Given the description of an element on the screen output the (x, y) to click on. 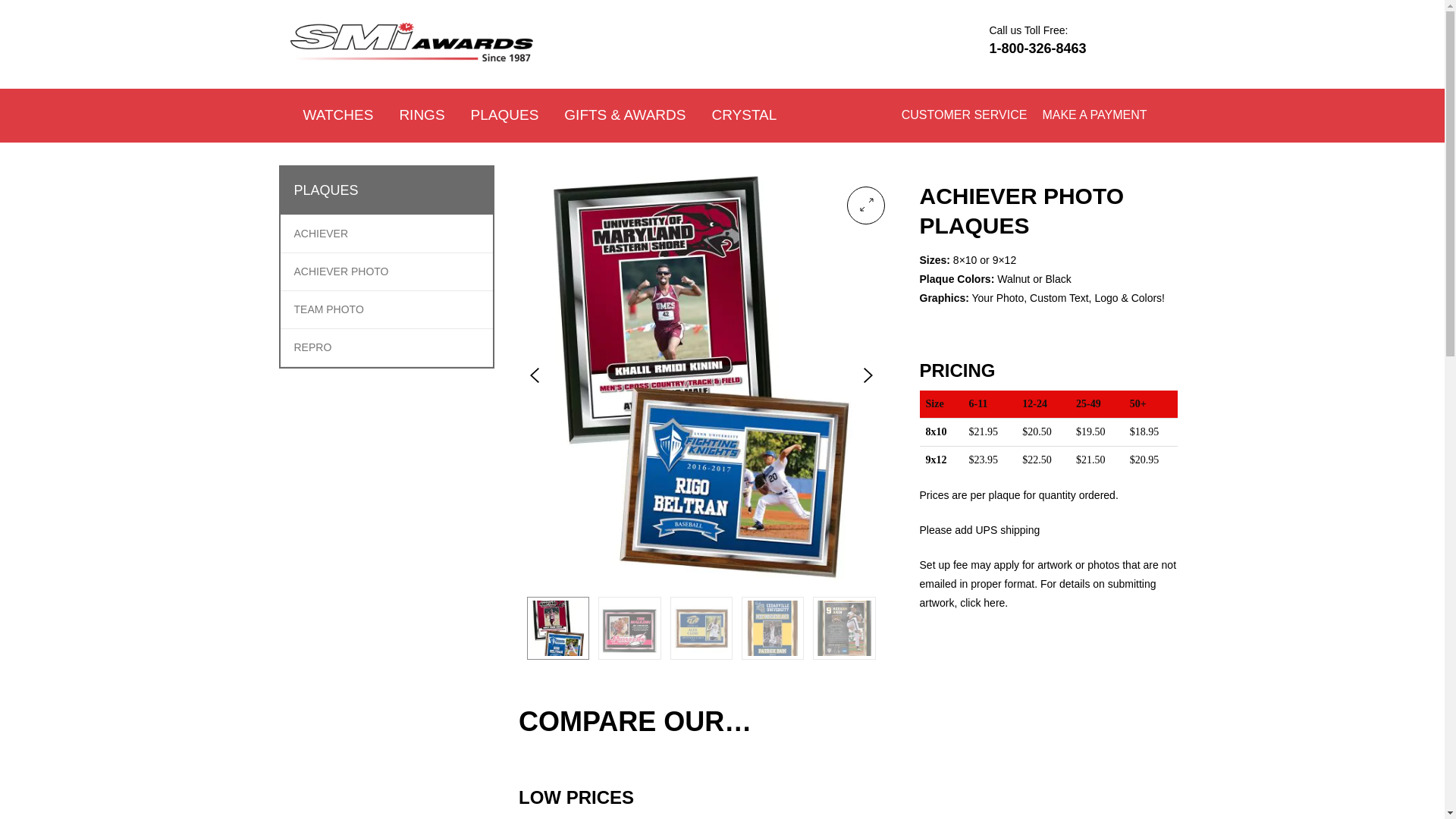
1-800-326-8463 (1037, 48)
ACHIEVER PHOTO (341, 271)
SMi Awards (317, 85)
CRYSTAL (743, 115)
MAKE A PAYMENT (1094, 115)
RINGS (421, 115)
REPRO (312, 347)
ACHIEVER (321, 233)
CUSTOMER SERVICE (964, 115)
WATCHES (337, 115)
TEAM PHOTO (329, 309)
click here (981, 603)
PLAQUES (504, 115)
